Given the description of an element on the screen output the (x, y) to click on. 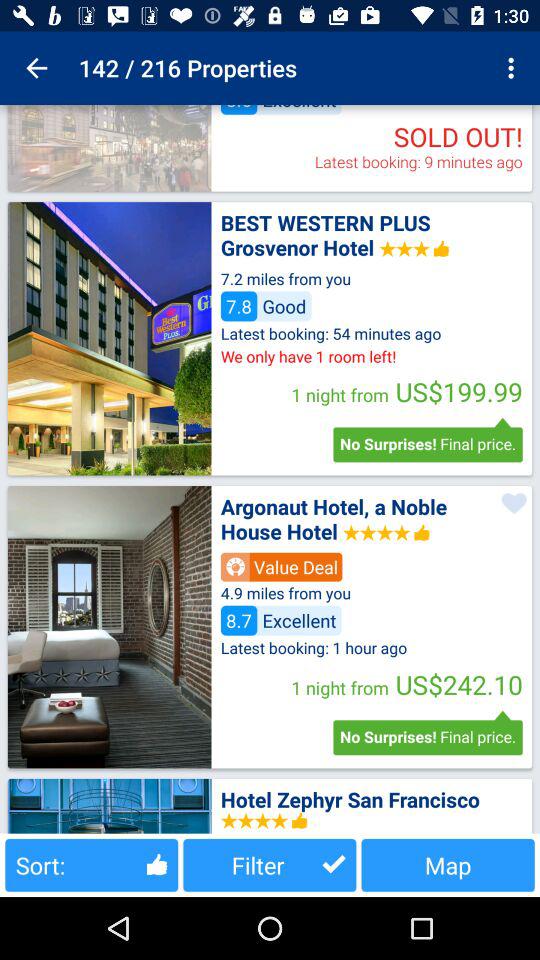
tap item to the left of 142 / 216 properties app (36, 68)
